Given the description of an element on the screen output the (x, y) to click on. 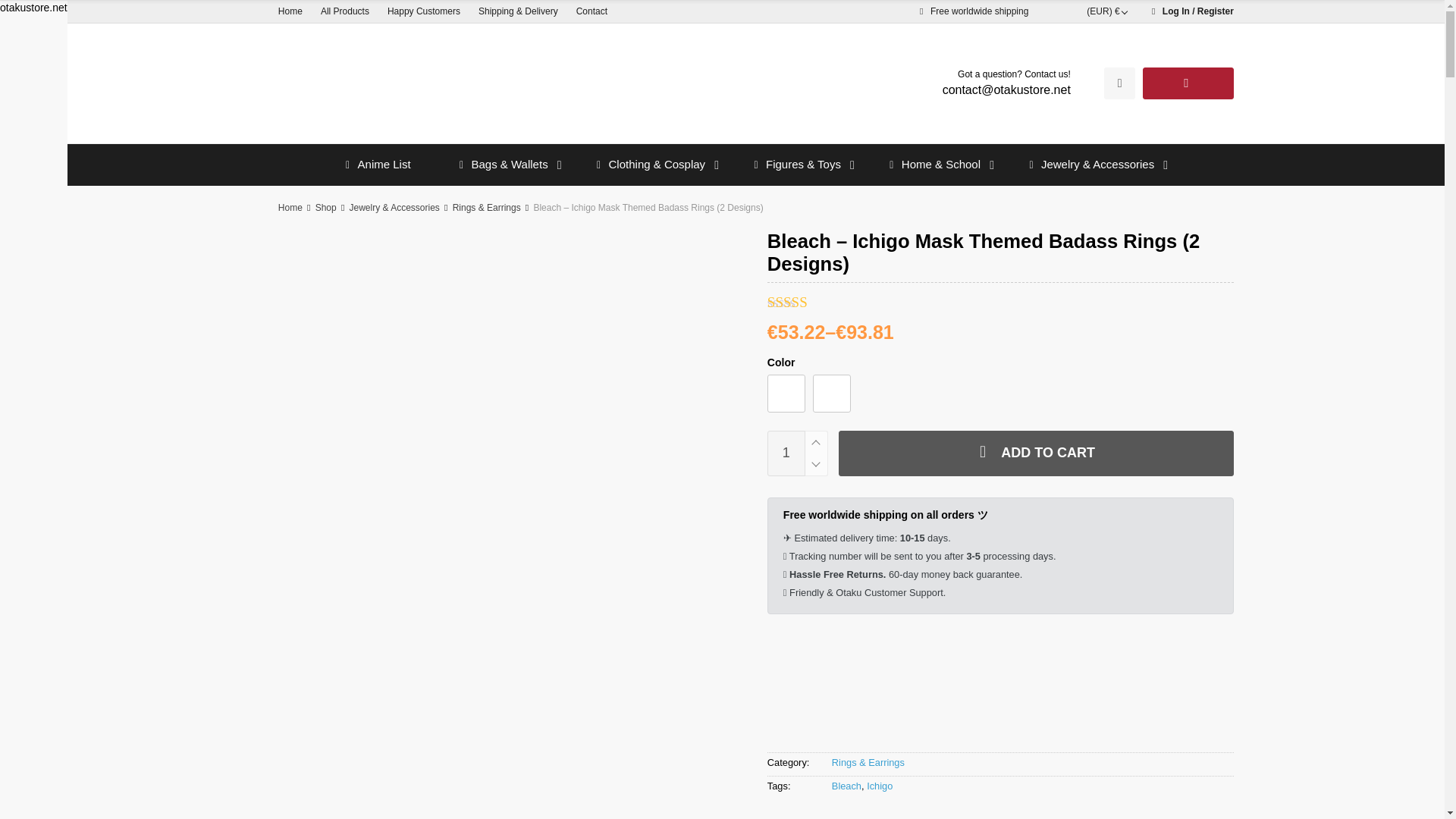
Home (290, 11)
Wishlist (1118, 83)
All Products (344, 11)
Bleach Ring (786, 393)
Ichigo Ring (831, 393)
Ichigo Ring (831, 393)
Contact (591, 11)
Bleach Ring (786, 393)
Happy Customers (423, 11)
